Given the description of an element on the screen output the (x, y) to click on. 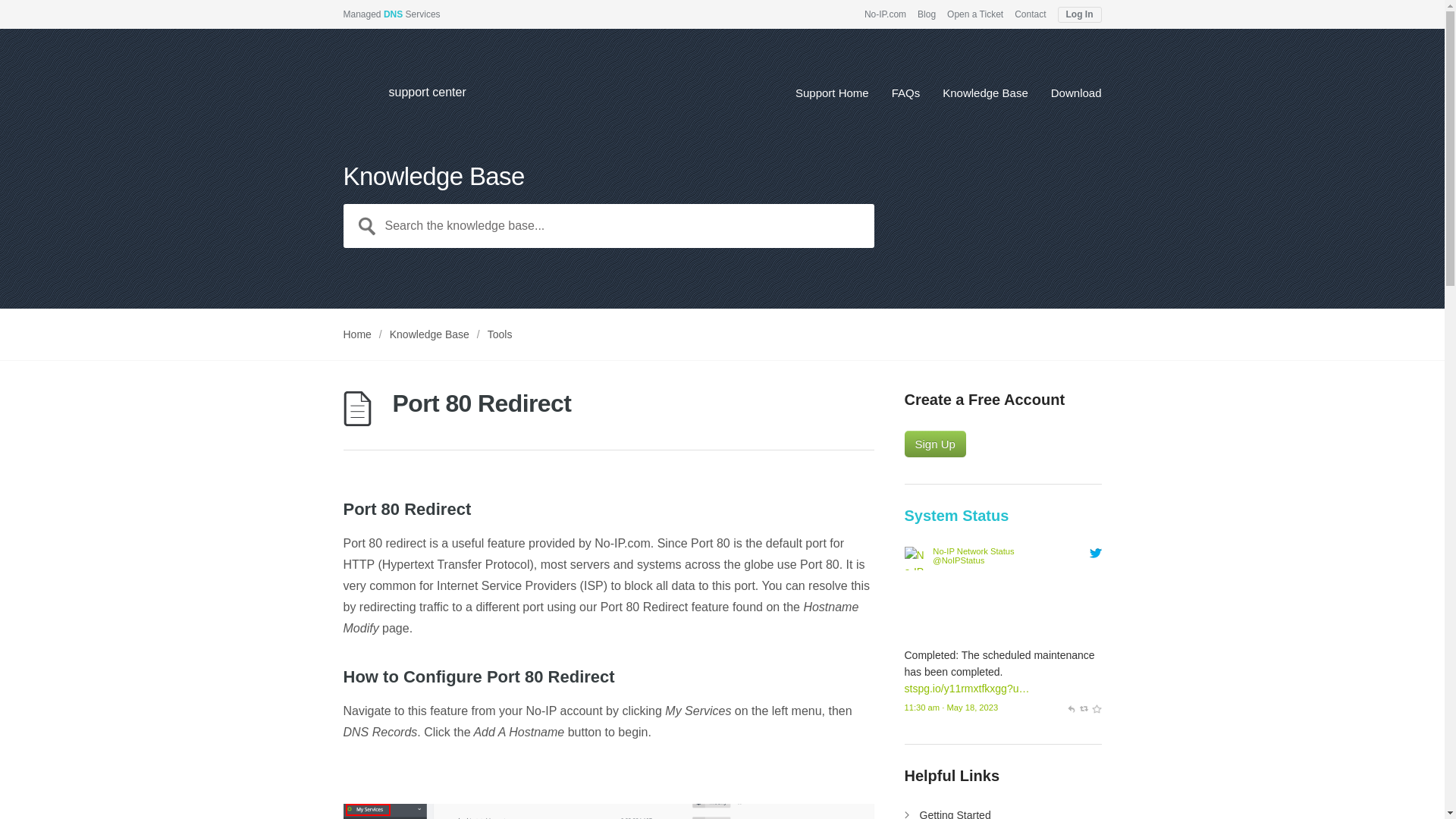
Open a Ticket (975, 14)
Support Home (831, 97)
FAQs (905, 97)
Search the knowledge base... (607, 225)
Contact (1029, 14)
No-IP.com (884, 14)
support center (418, 95)
retweet (1083, 706)
Knowledge Base (984, 97)
No-IP Network Status (958, 560)
No-IP Network Status (915, 638)
reply (1070, 706)
No-IP Network Status (973, 551)
Log In (1078, 14)
Blog (926, 14)
